Given the description of an element on the screen output the (x, y) to click on. 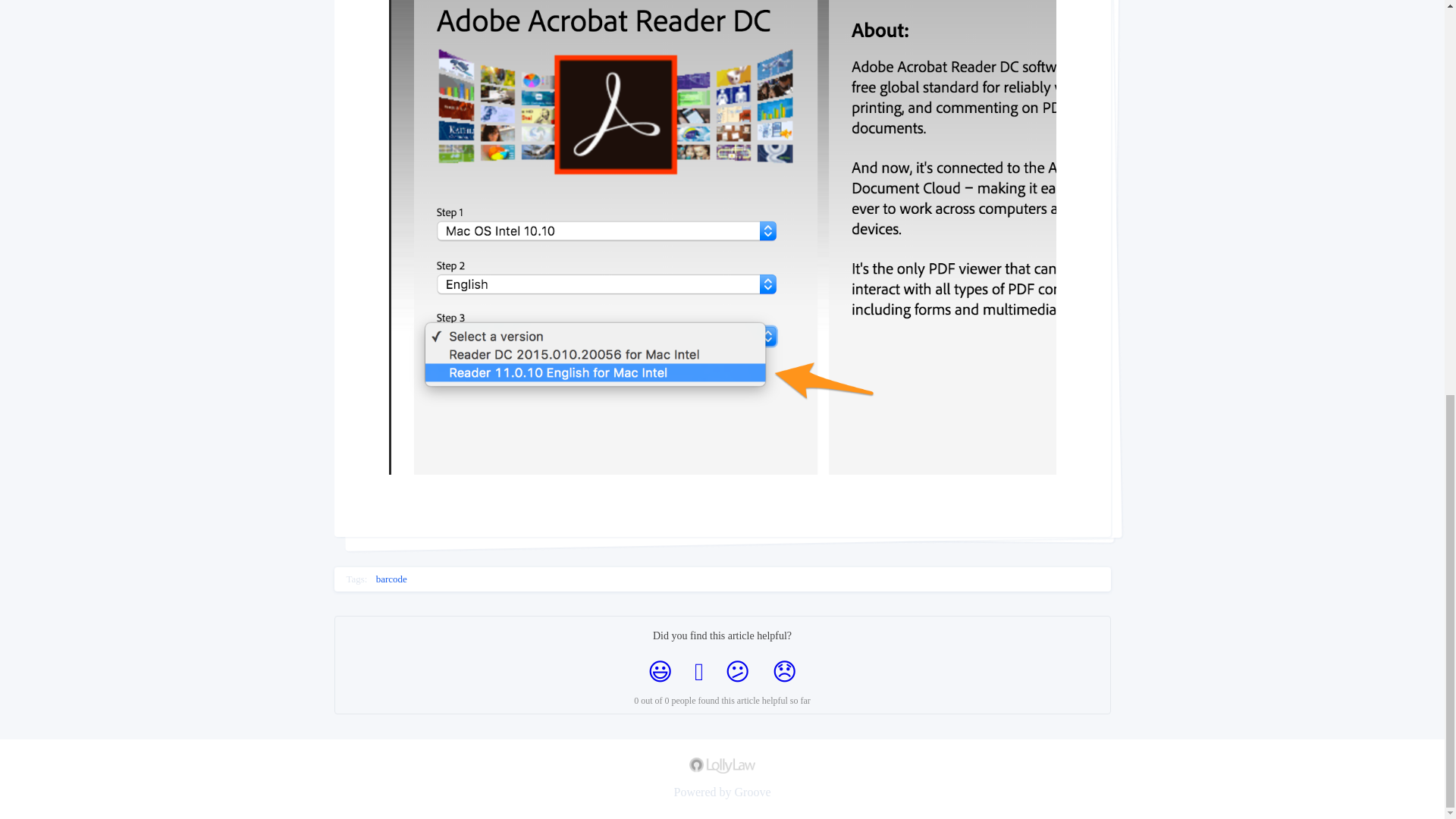
barcode (391, 579)
Powered by Groove (721, 790)
